Given the description of an element on the screen output the (x, y) to click on. 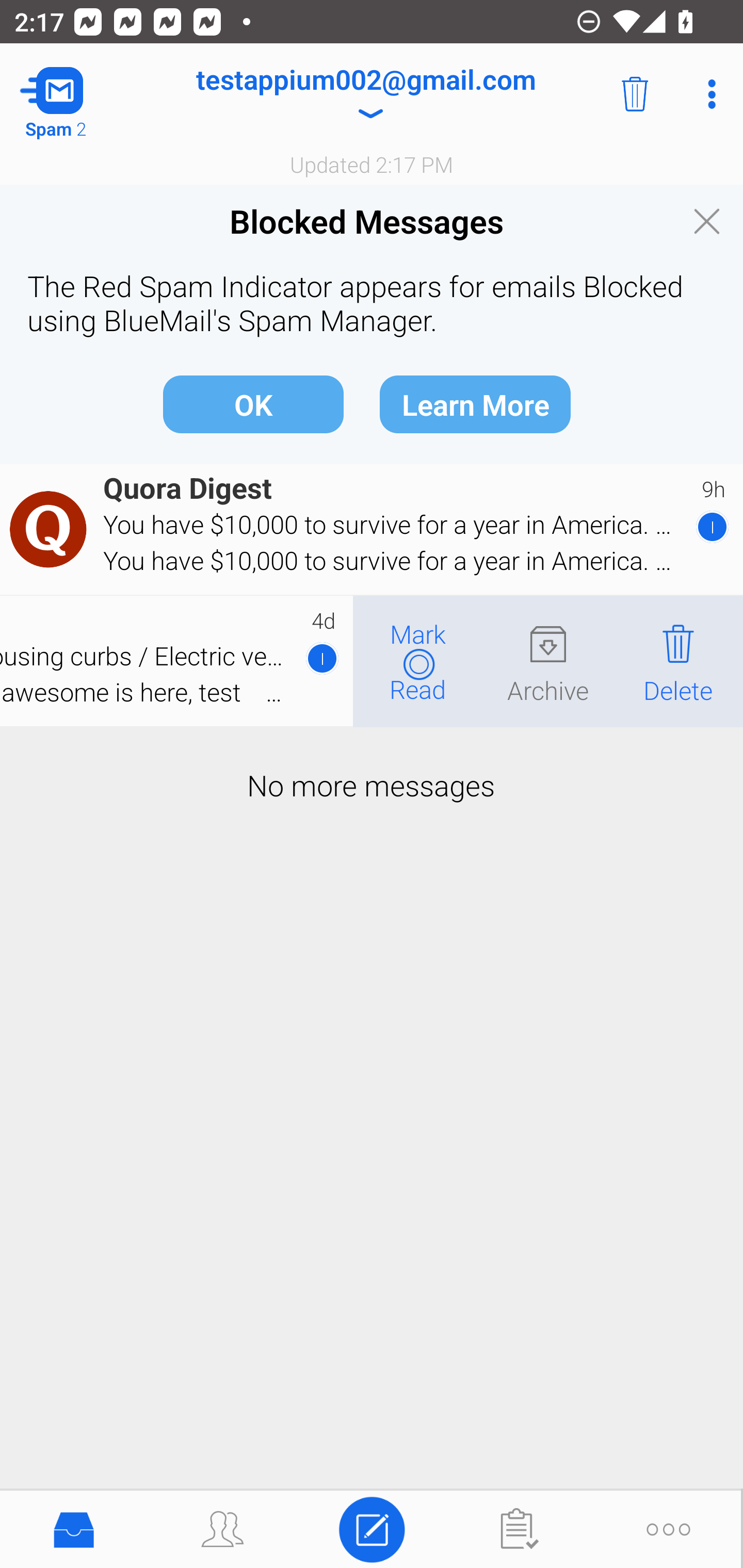
Navigate up (81, 93)
testappium002@gmail.com (365, 93)
Delete All (634, 93)
More Options (706, 93)
Updated 2:17 PM (371, 164)
OK (252, 403)
Learn More (474, 403)
Contact Details (50, 529)
Mark Read (417, 661)
Archive (547, 661)
Delete (677, 661)
